Given the description of an element on the screen output the (x, y) to click on. 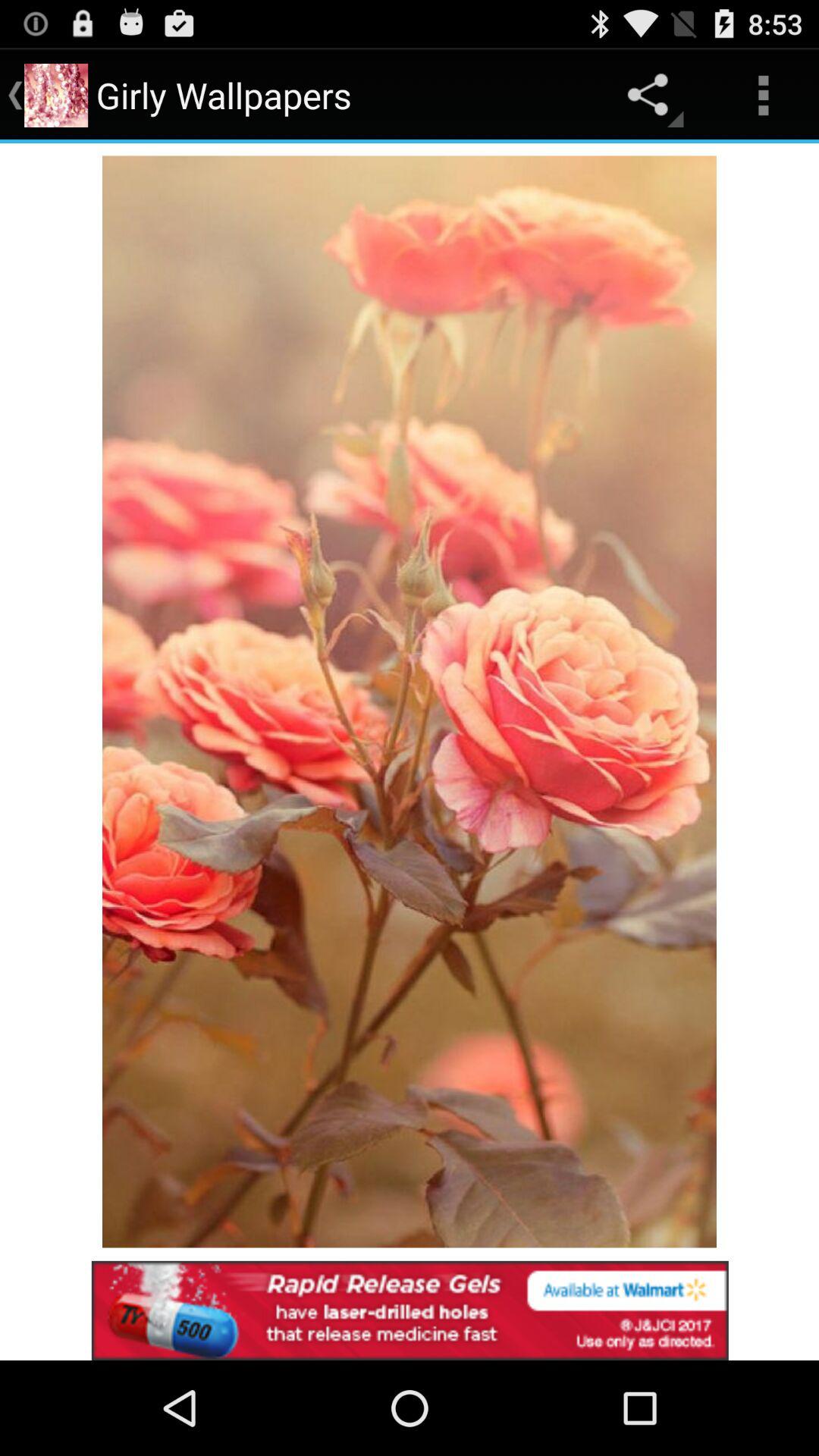
caption of advertisements (409, 1310)
